Given the description of an element on the screen output the (x, y) to click on. 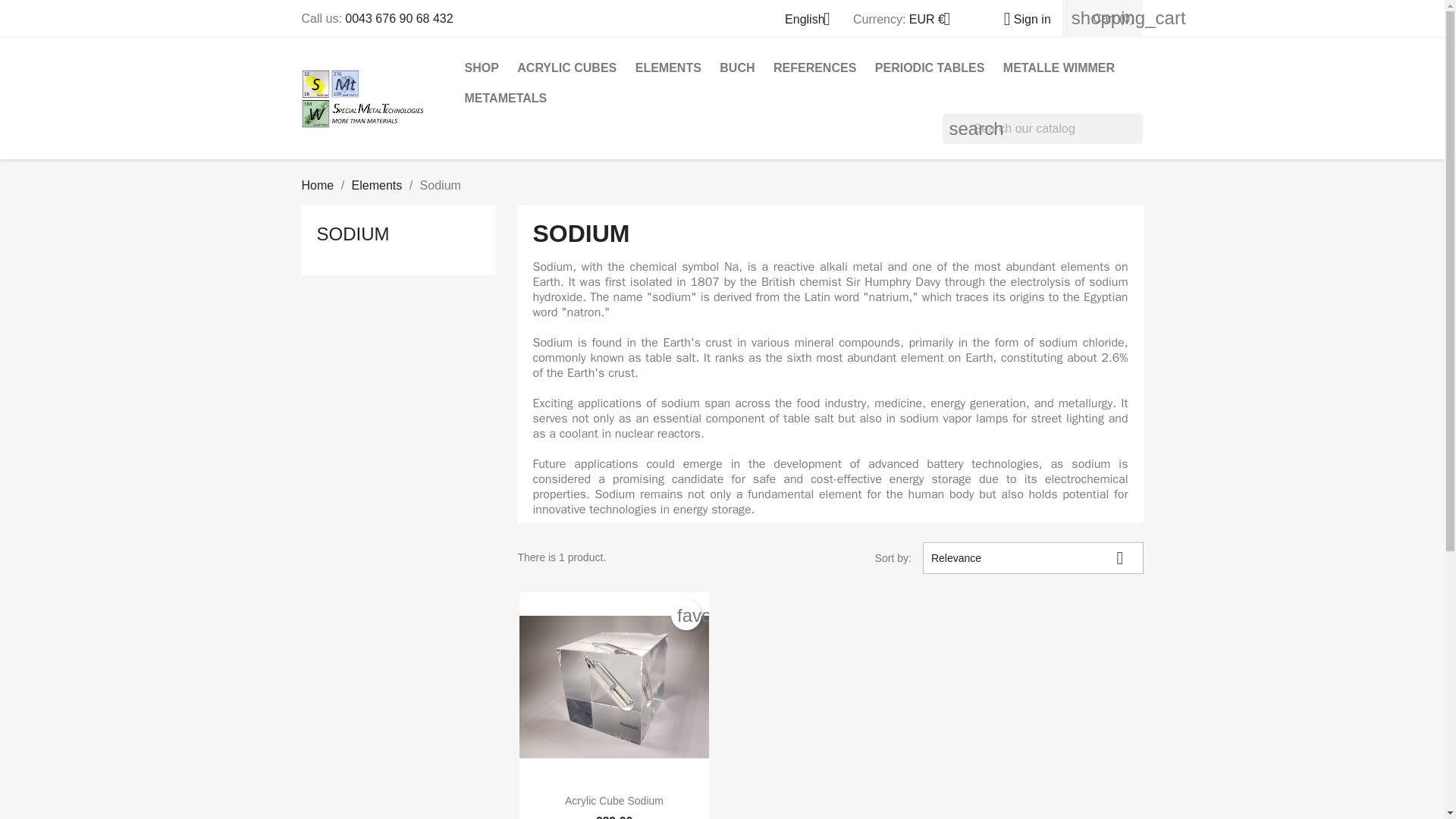
Log in to your customer account (1020, 19)
ELEMENTS (668, 68)
ACRYLIC CUBES (566, 68)
0043 676 90 68 432 (398, 18)
SHOP (481, 68)
